Given the description of an element on the screen output the (x, y) to click on. 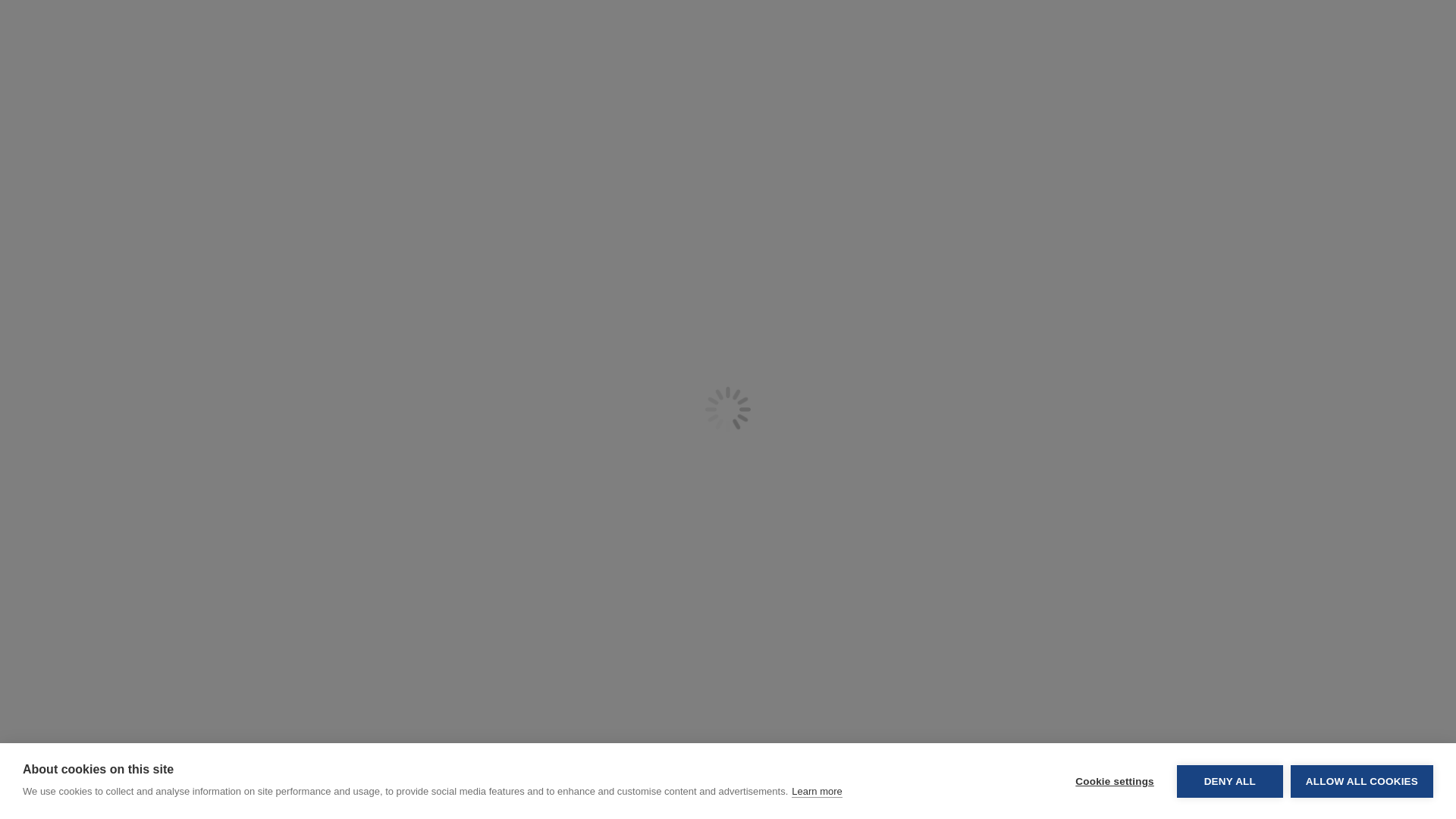
ALLOW ALL COOKIES (1361, 799)
Instagram page opens in new window (825, 30)
Cookie settings (1114, 812)
YouTube page opens in new window (848, 30)
DENY ALL (1229, 807)
Facebook page opens in new window (802, 30)
Crew-Agnes (519, 780)
